Given the description of an element on the screen output the (x, y) to click on. 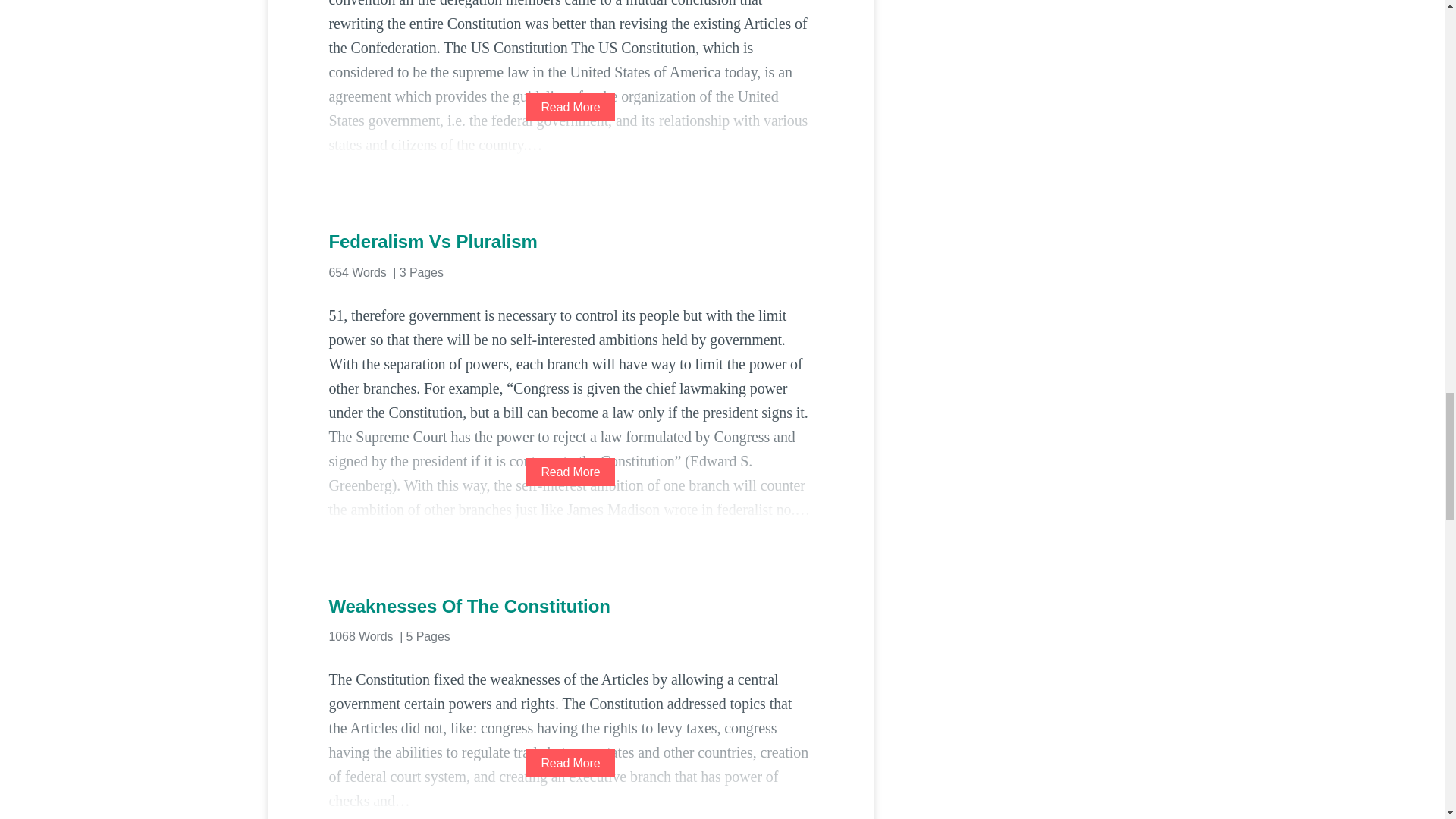
Read More (569, 107)
Read More (569, 763)
Federalism Vs Pluralism (570, 241)
Weaknesses Of The Constitution (570, 606)
Read More (569, 471)
